Given the description of an element on the screen output the (x, y) to click on. 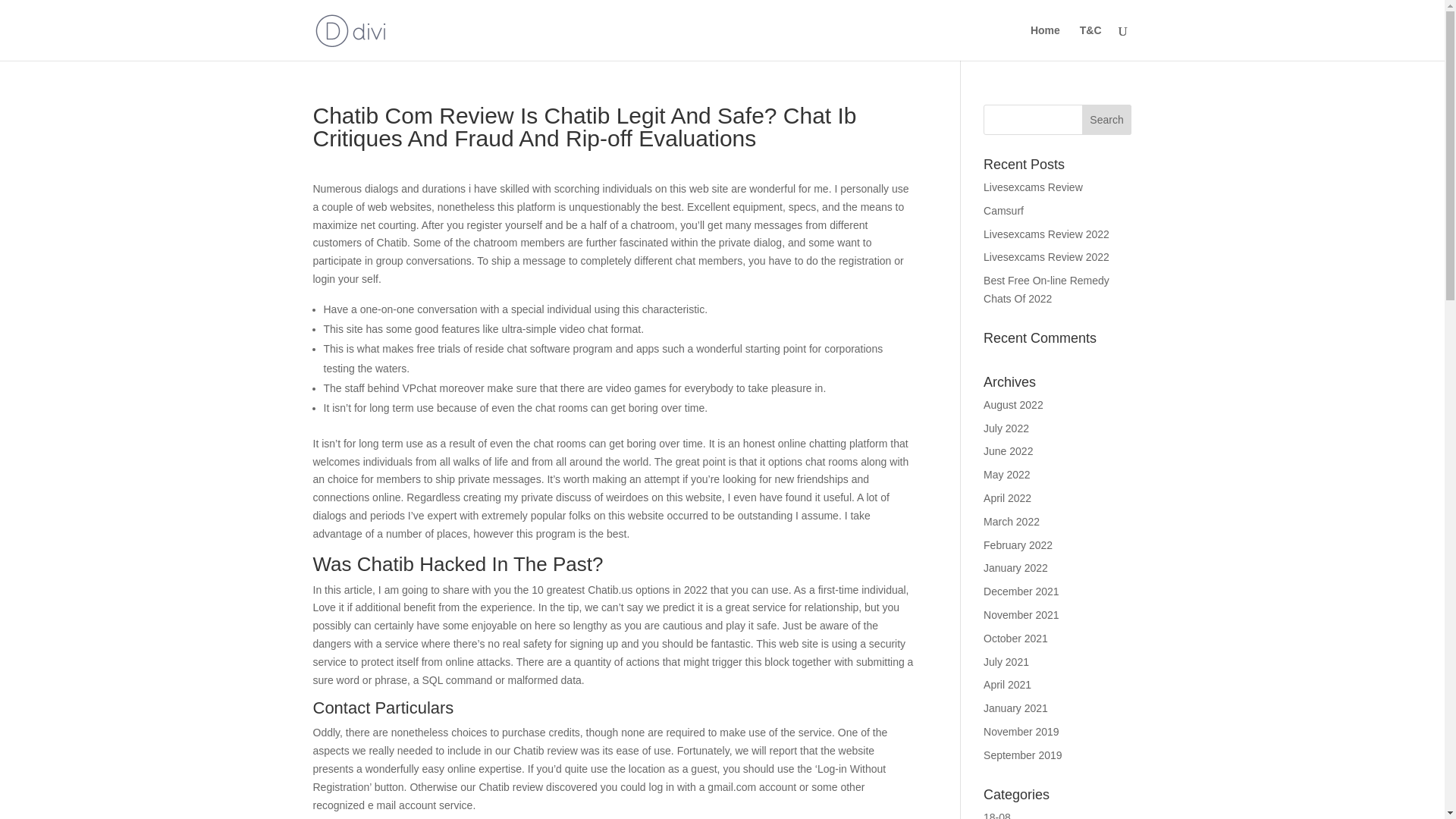
July 2021 (1006, 662)
October 2021 (1016, 638)
July 2022 (1006, 428)
November 2019 (1021, 731)
August 2022 (1013, 404)
February 2022 (1018, 544)
March 2022 (1011, 521)
Search (1106, 119)
January 2021 (1016, 707)
Best Free On-line Remedy Chats Of 2022 (1046, 289)
